Given the description of an element on the screen output the (x, y) to click on. 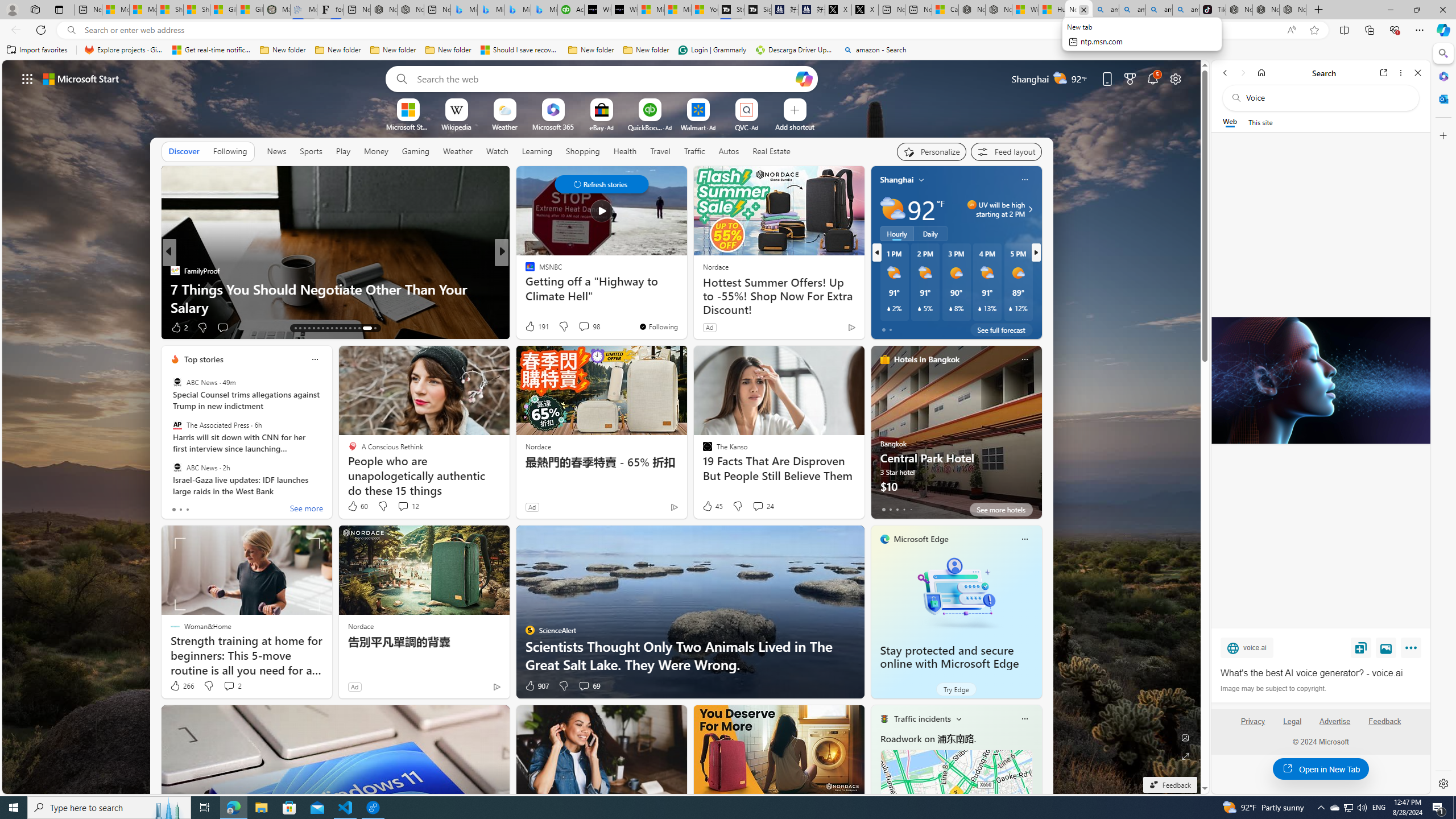
AutomationID: tab-27 (358, 328)
Traffic Title Traffic Light (883, 718)
Wikipedia (456, 126)
AutomationID: tab-17 (313, 328)
Microsoft Bing Travel - Shangri-La Hotel Bangkok (543, 9)
Microsoft start (81, 78)
Streaming Coverage | T3 (731, 9)
Class: icon-img (1024, 718)
Microsoft 365 (553, 126)
